Given the description of an element on the screen output the (x, y) to click on. 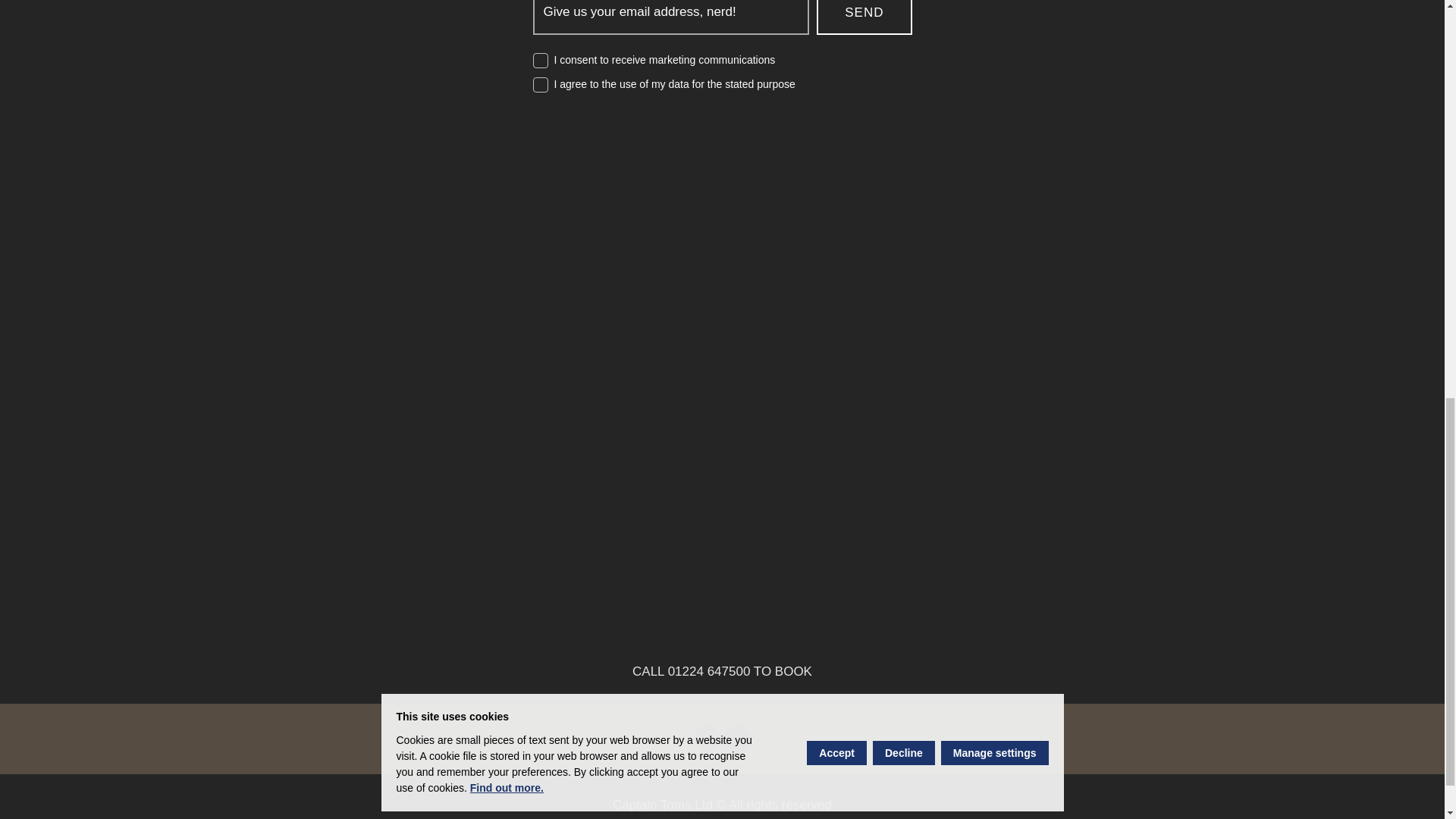
on (539, 84)
CALL 01224 647500 TO BOOK (721, 671)
on (539, 60)
SEND (863, 17)
I agree to the use of my data for the stated purpose (673, 83)
